Given the description of an element on the screen output the (x, y) to click on. 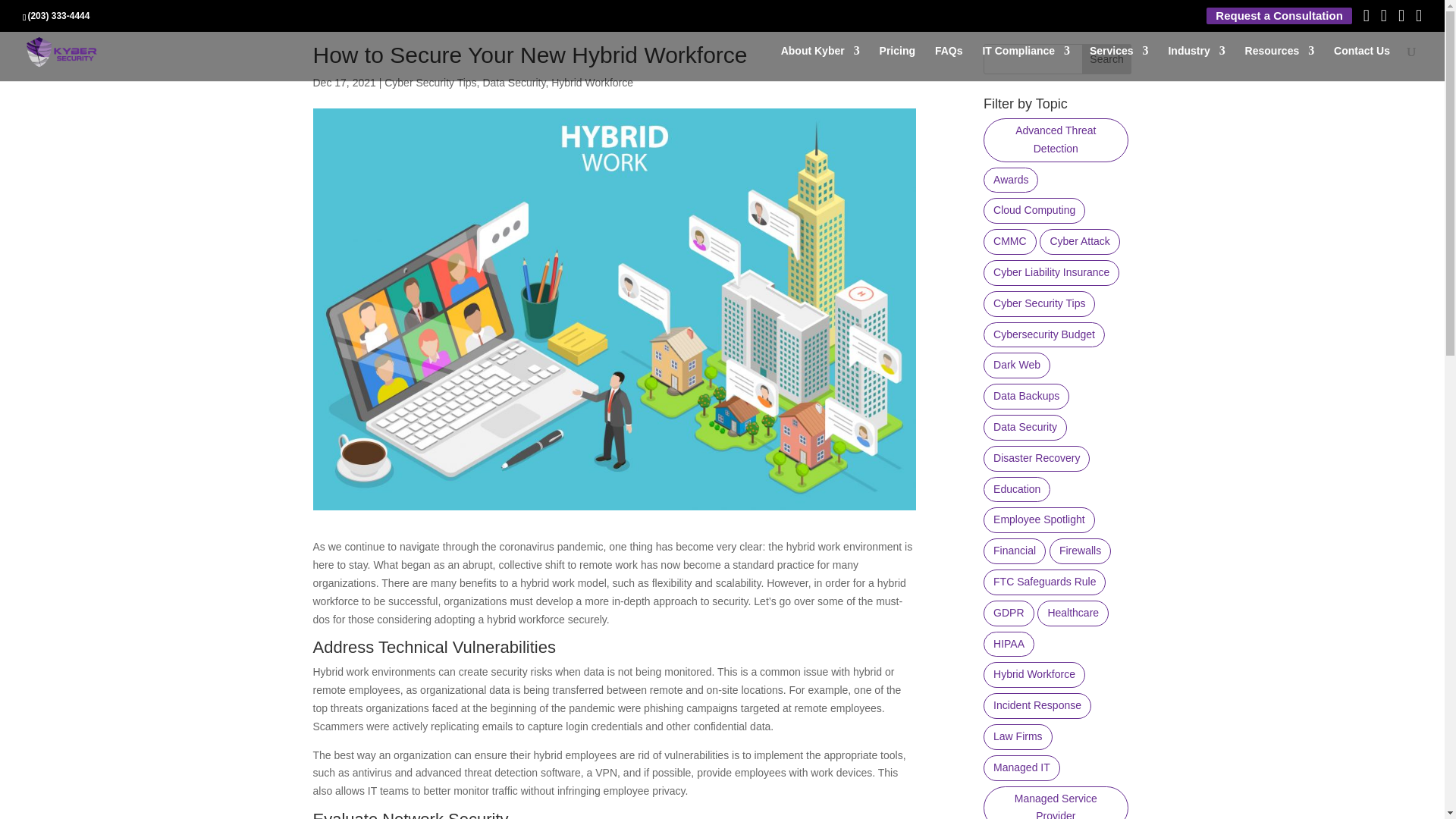
Resources (1279, 63)
IT Compliance (1025, 63)
Search (1106, 59)
FAQs (948, 63)
Industry (1195, 63)
Request a Consultation (1278, 15)
About Kyber (820, 63)
Services (1118, 63)
Pricing (897, 63)
